Given the description of an element on the screen output the (x, y) to click on. 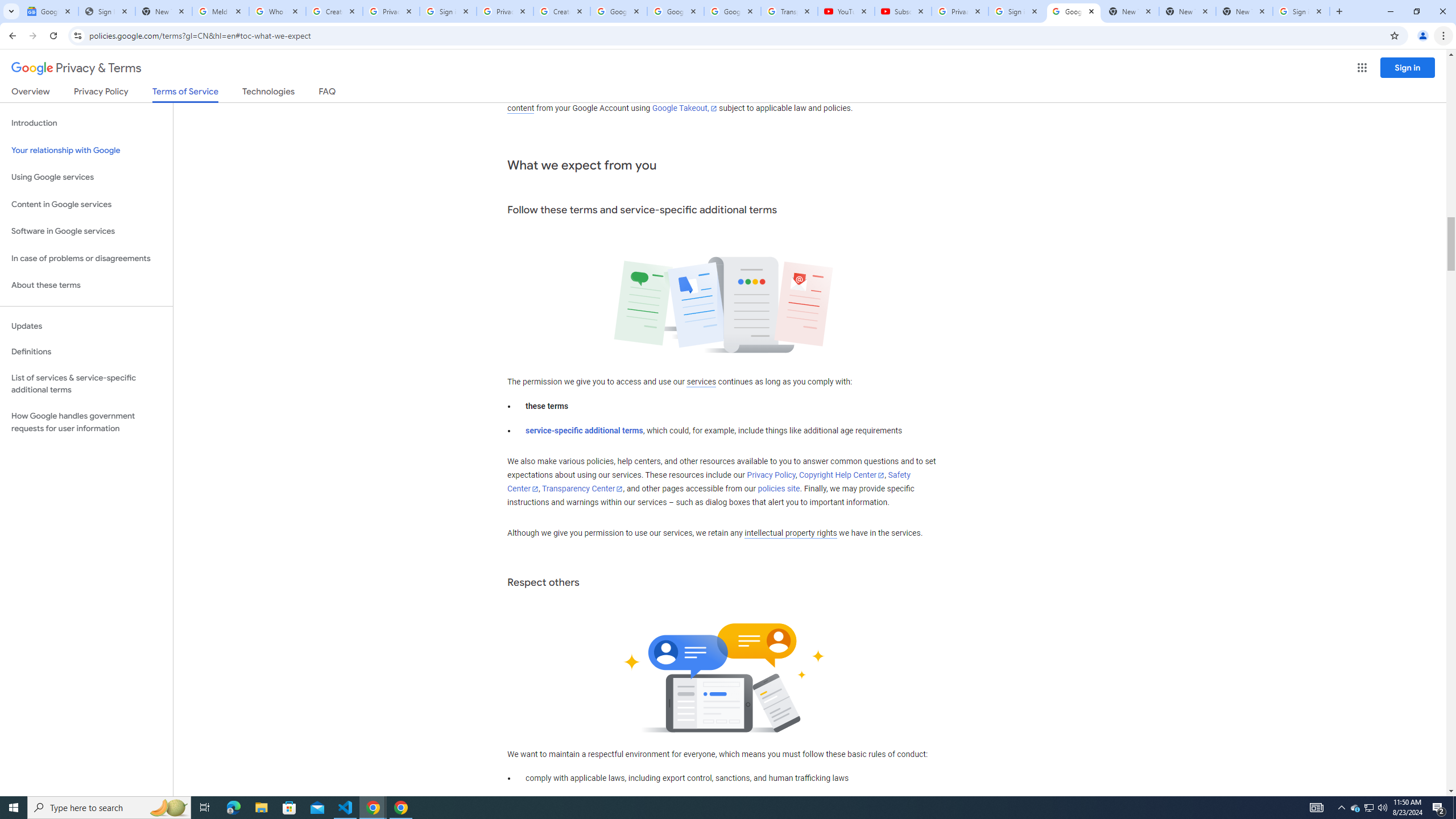
New Tab (1244, 11)
your content (710, 102)
policies site (778, 488)
Create your Google Account (334, 11)
Sign in - Google Accounts (1301, 11)
